Given the description of an element on the screen output the (x, y) to click on. 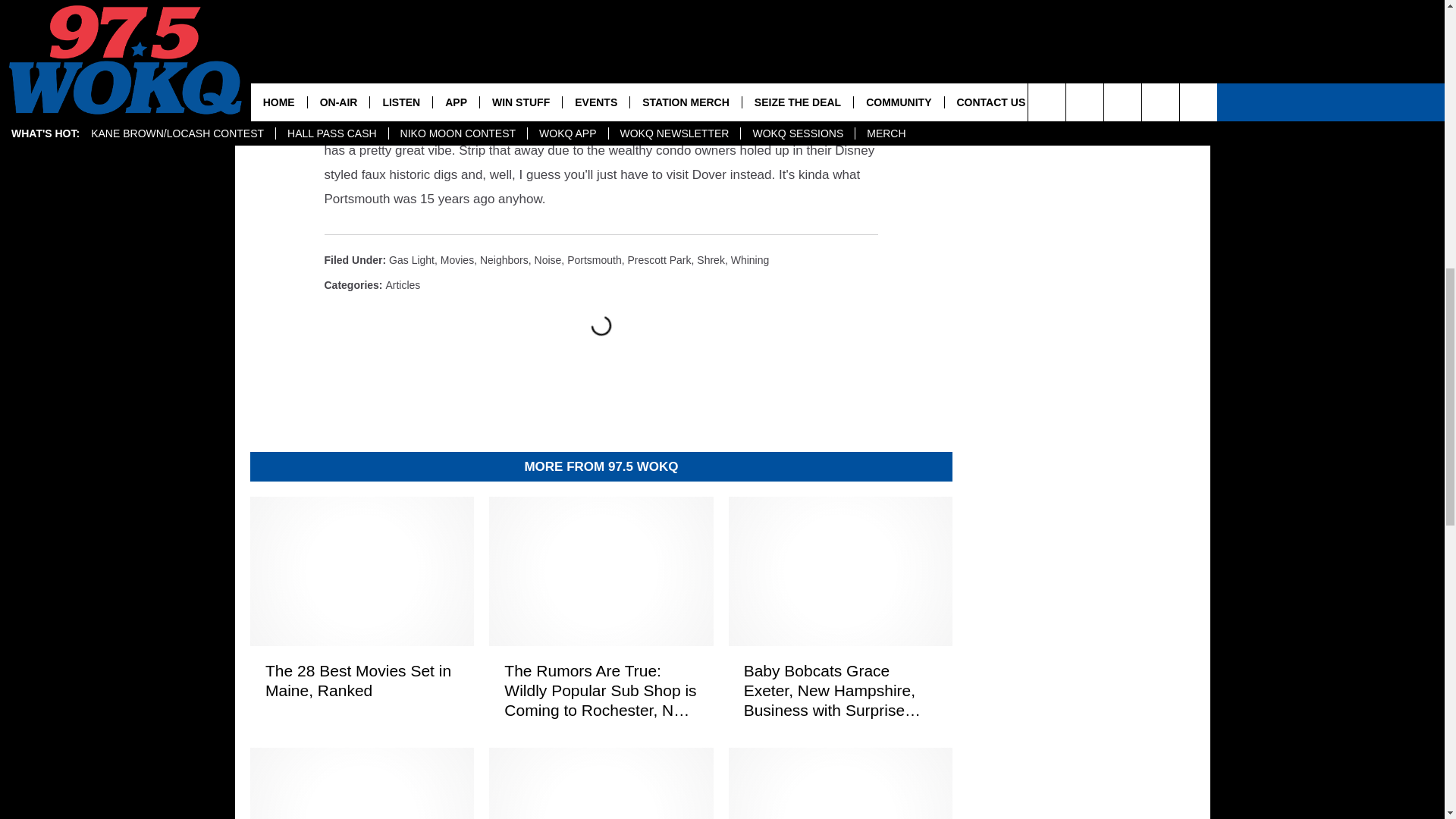
That blasted loud music! (592, 28)
Skating is too fun, NO (472, 88)
